Given the description of an element on the screen output the (x, y) to click on. 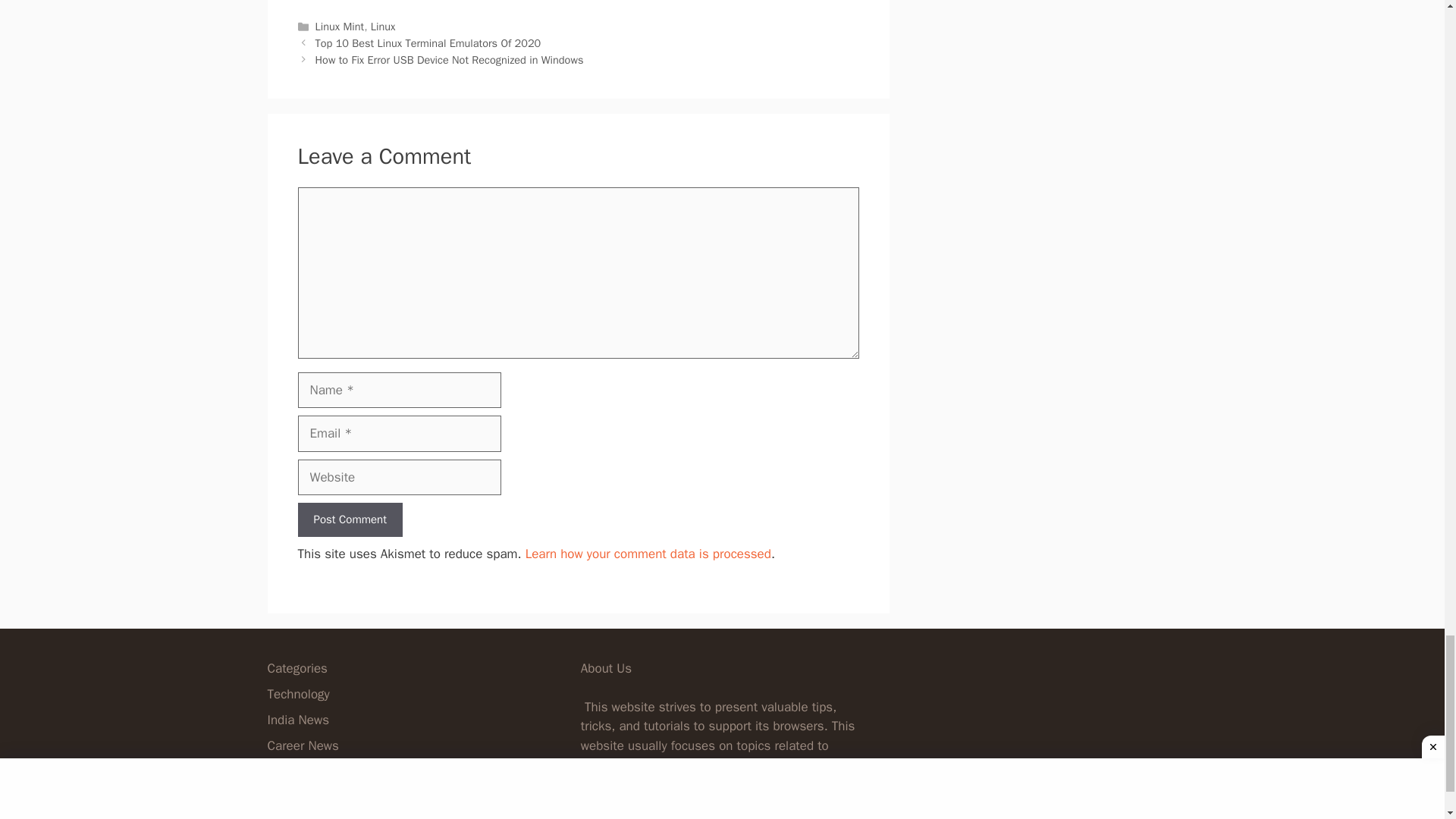
Post Comment (349, 519)
